Given the description of an element on the screen output the (x, y) to click on. 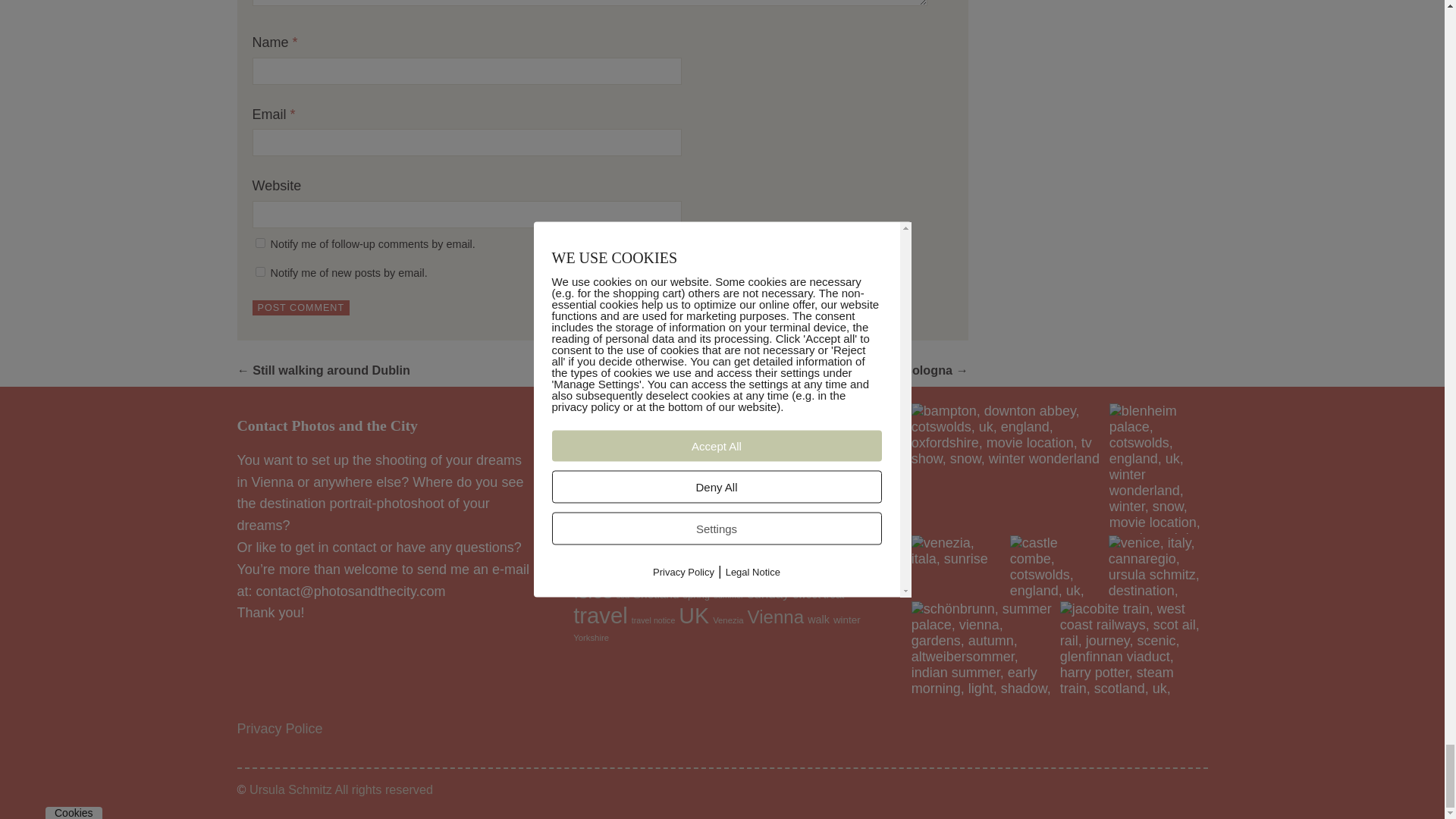
subscribe (259, 271)
Photos and the City (340, 789)
subscribe (259, 243)
Post Comment (300, 307)
